Given the description of an element on the screen output the (x, y) to click on. 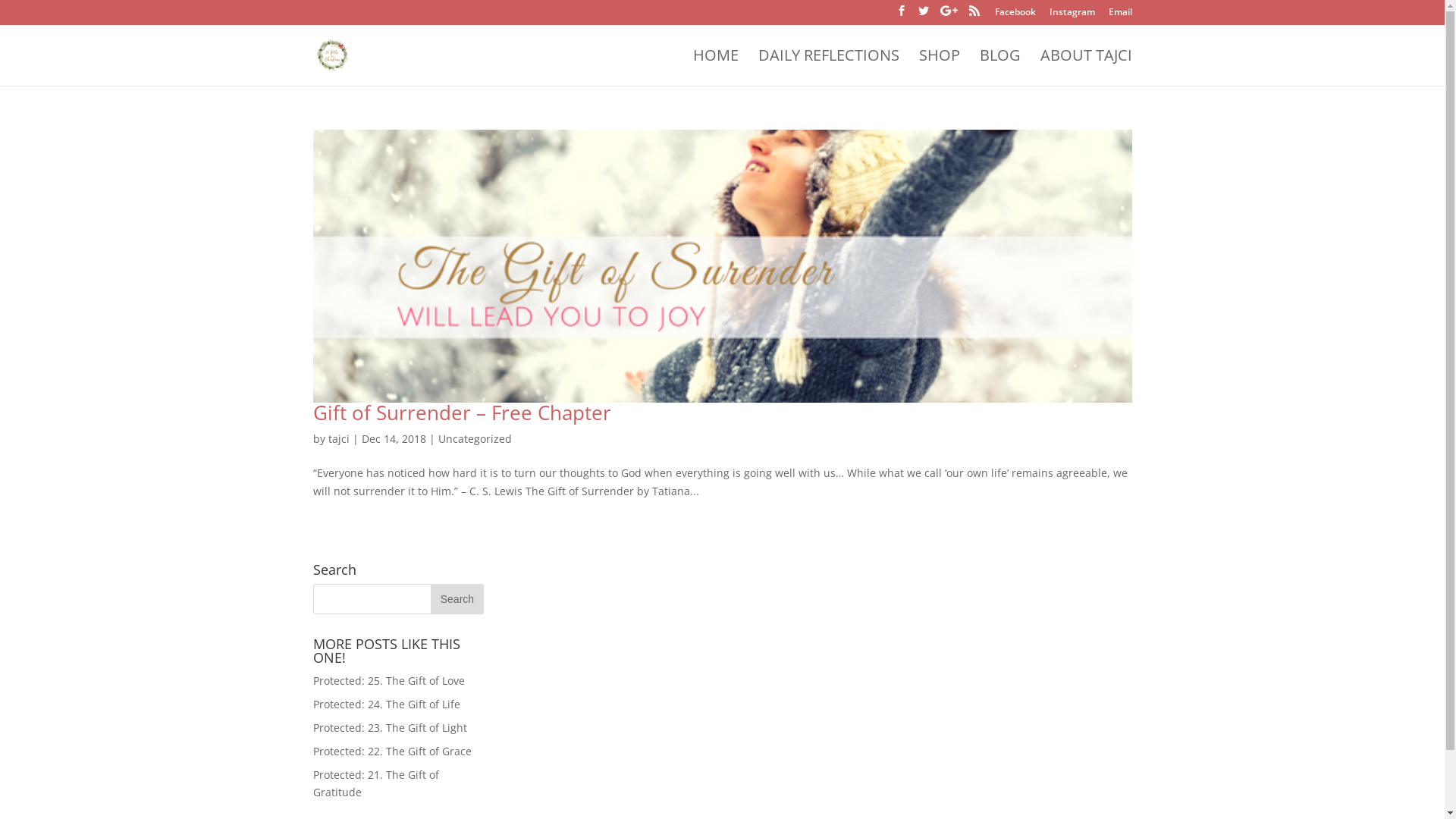
Uncategorized Element type: text (474, 438)
tajci Element type: text (337, 438)
BLOG Element type: text (999, 67)
Search Element type: text (456, 598)
ABOUT TAJCI Element type: text (1086, 67)
Instagram Element type: text (1072, 15)
Protected: 23. The Gift of Light Element type: text (389, 727)
Protected: 24. The Gift of Life Element type: text (385, 703)
HOME Element type: text (715, 67)
SHOP Element type: text (939, 67)
Protected: 22. The Gift of Grace Element type: text (391, 750)
Protected: 25. The Gift of Love Element type: text (388, 680)
Email Element type: text (1120, 15)
Protected: 21. The Gift of Gratitude Element type: text (375, 783)
DAILY REFLECTIONS Element type: text (828, 67)
Facebook Element type: text (1014, 15)
